Given the description of an element on the screen output the (x, y) to click on. 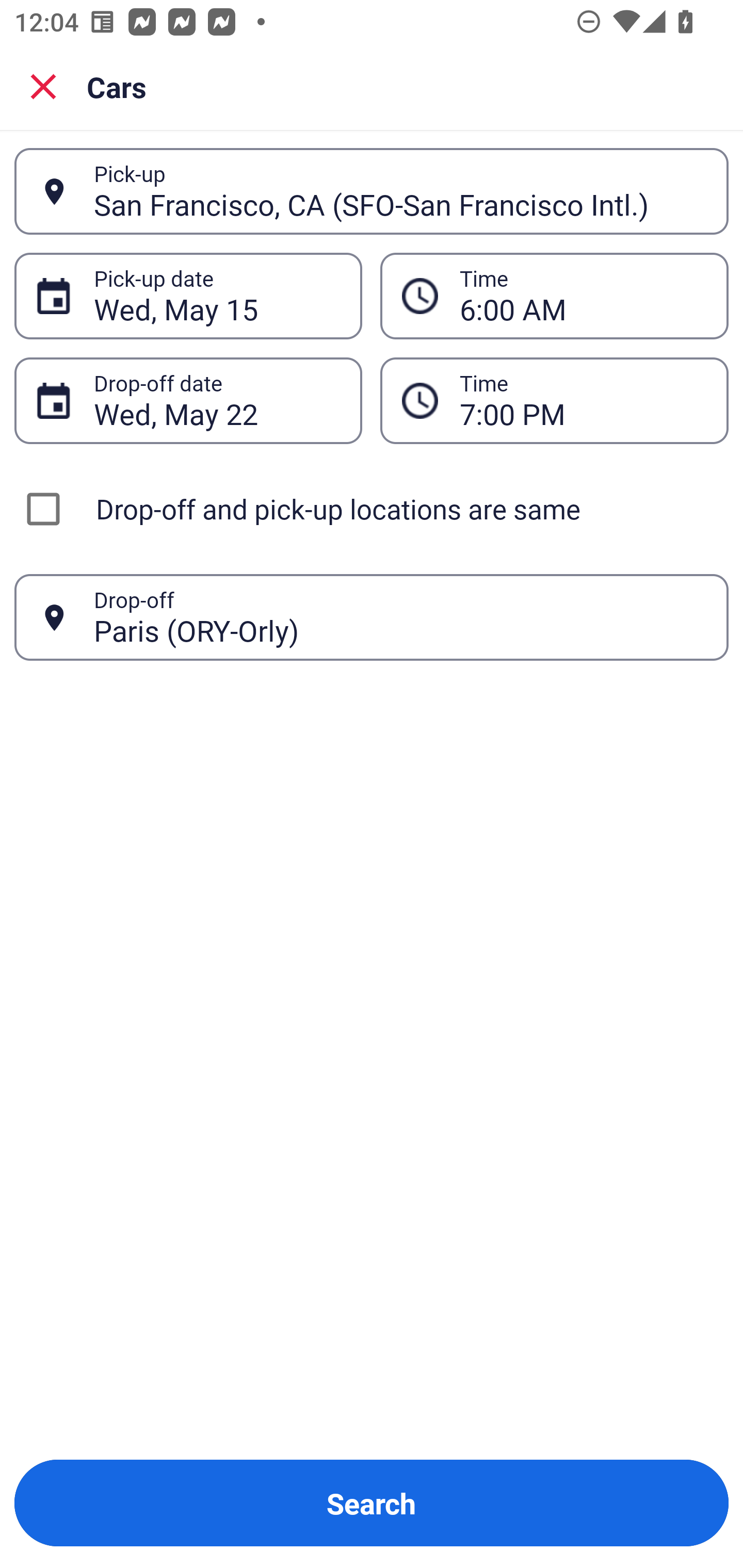
Close search screen (43, 86)
San Francisco, CA (SFO-San Francisco Intl.) (399, 191)
Wed, May 15 Pick-up date (188, 295)
6:00 AM (554, 295)
Wed, May 15 (216, 296)
6:00 AM (582, 296)
Wed, May 22 Drop-off date (188, 400)
7:00 PM (554, 400)
Wed, May 22 (216, 400)
7:00 PM (582, 400)
Drop-off and pick-up locations are same (371, 508)
Paris (ORY-Orly) Drop-off (371, 616)
Paris (ORY-Orly) (399, 616)
Search Button Search (371, 1502)
